Given the description of an element on the screen output the (x, y) to click on. 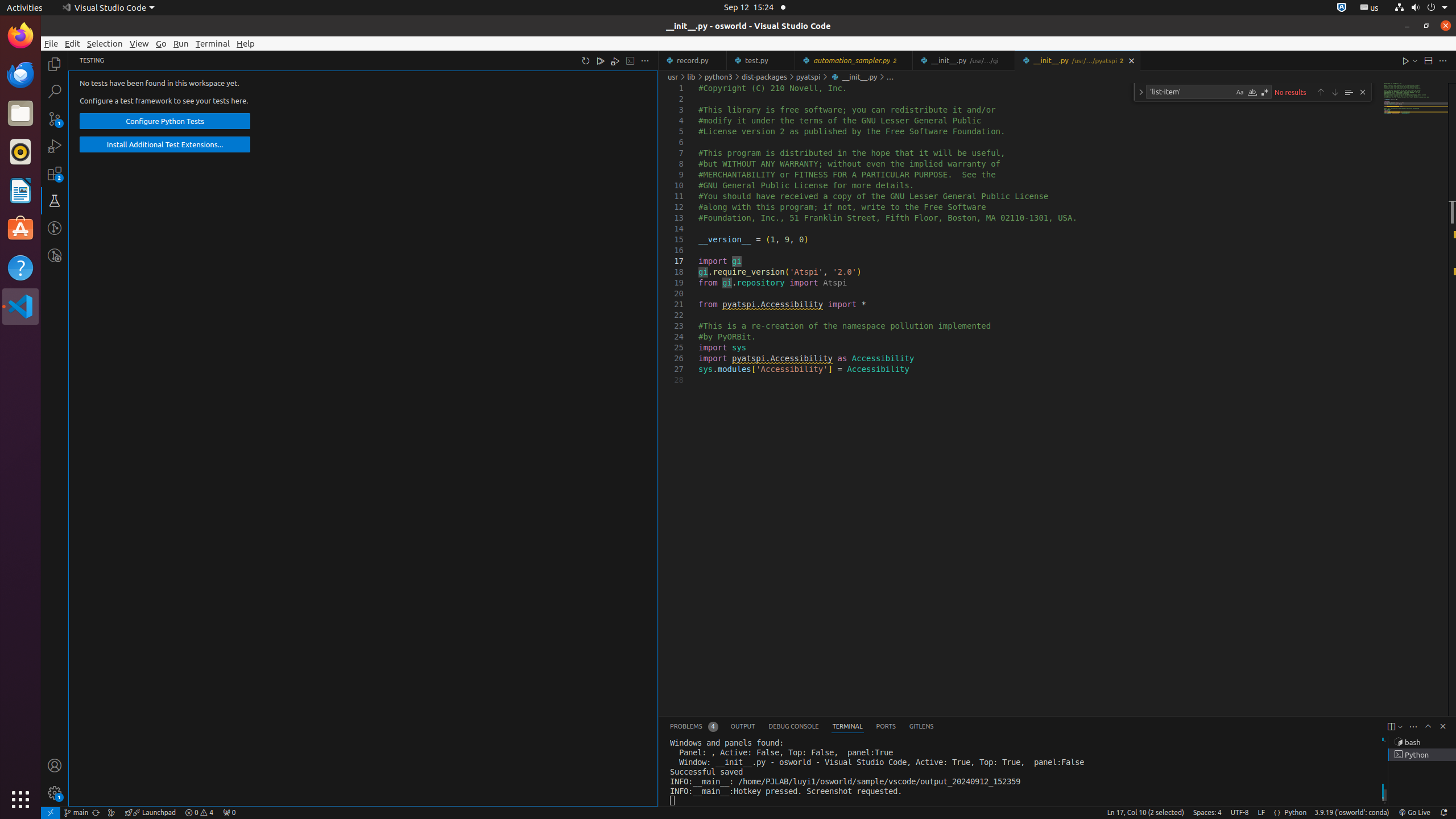
Editor Language Status: Auto Import Completions: false Element type: push-button (1277, 812)
Firefox Web Browser Element type: push-button (20, 35)
Terminal 1 bash Element type: list-item (1422, 741)
Use Regular Expression (Alt+R) Element type: check-box (1264, 91)
